Given the description of an element on the screen output the (x, y) to click on. 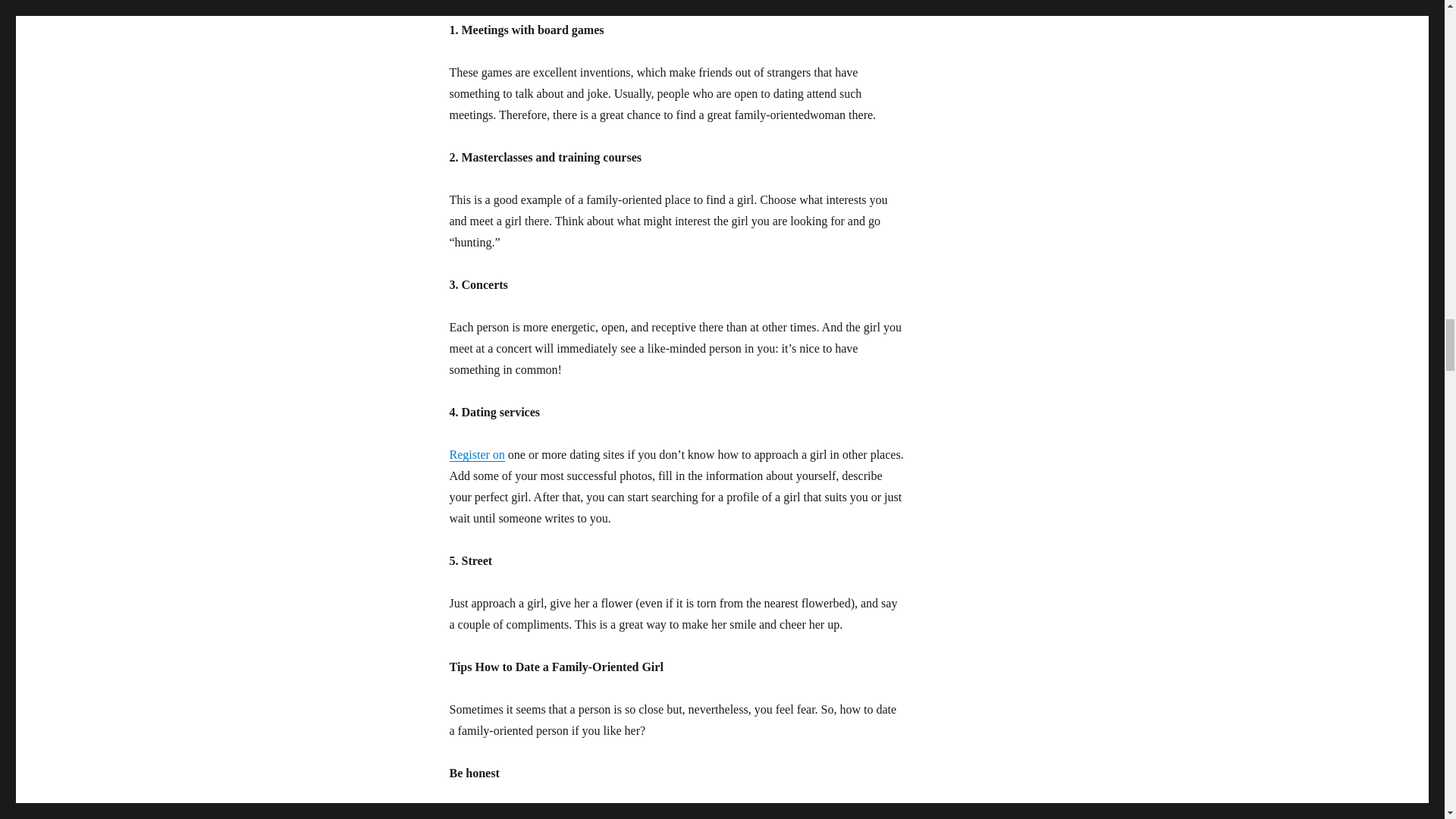
Register on (475, 454)
